Given the description of an element on the screen output the (x, y) to click on. 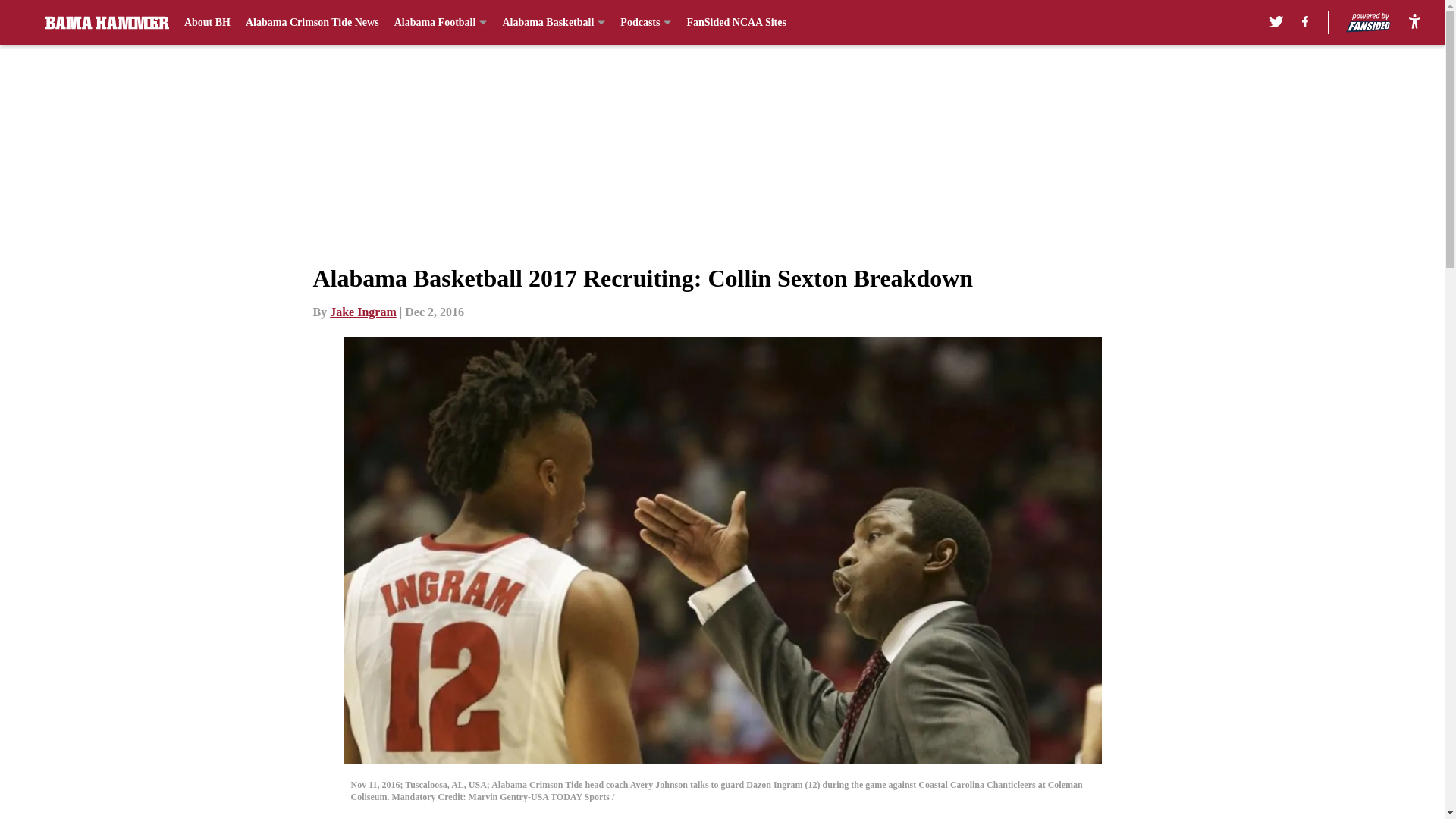
FanSided NCAA Sites (735, 22)
Jake Ingram (363, 311)
About BH (207, 22)
Alabama Crimson Tide News (312, 22)
